Given the description of an element on the screen output the (x, y) to click on. 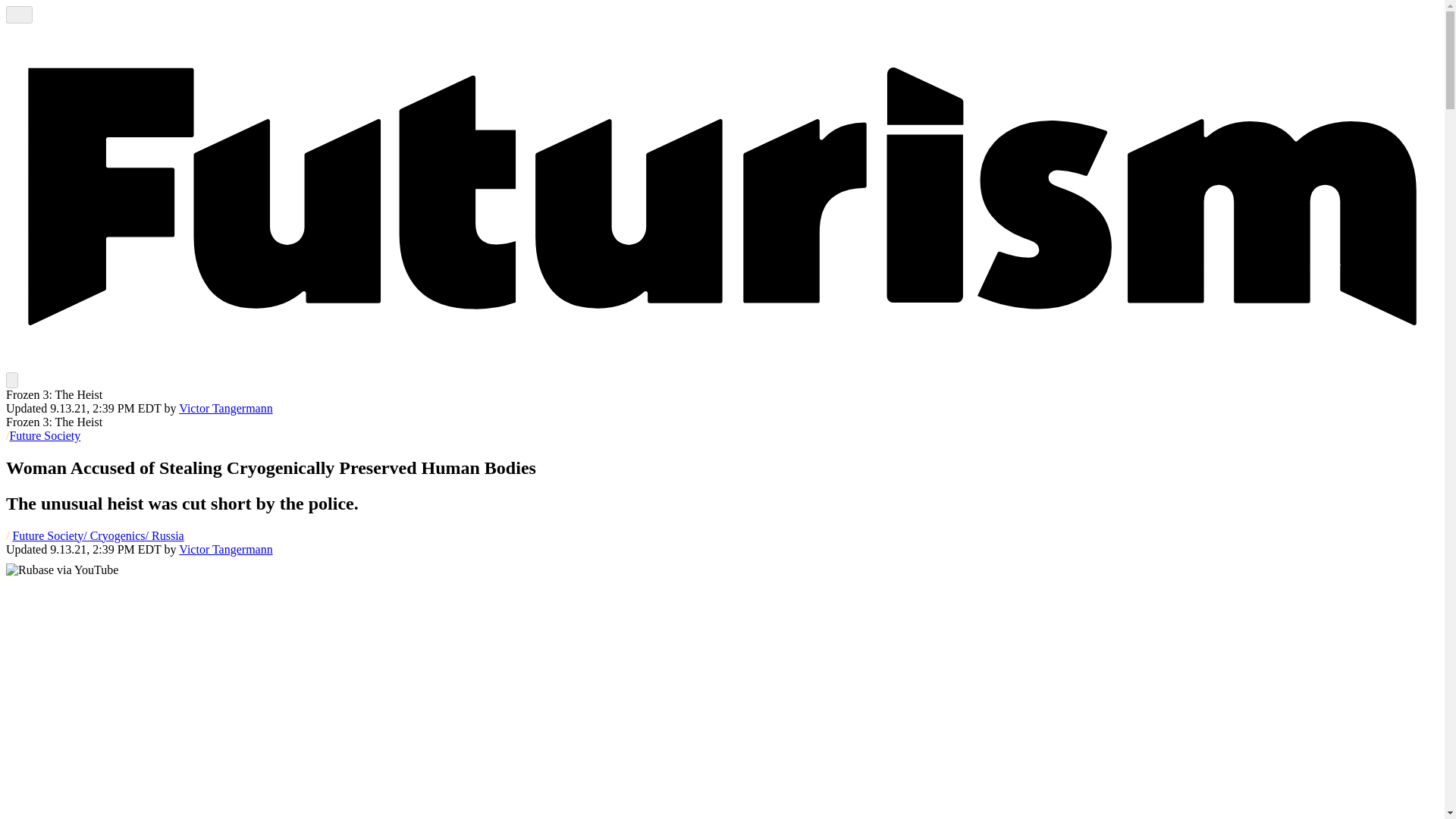
Victor Tangermann (225, 408)
Future Society (44, 435)
Future Society (44, 435)
Victor Tangermann (225, 549)
Victor Tangermann (225, 408)
Future Society (46, 535)
cryogenics (113, 535)
Russia (164, 535)
Victor Tangermann (225, 549)
